Given the description of an element on the screen output the (x, y) to click on. 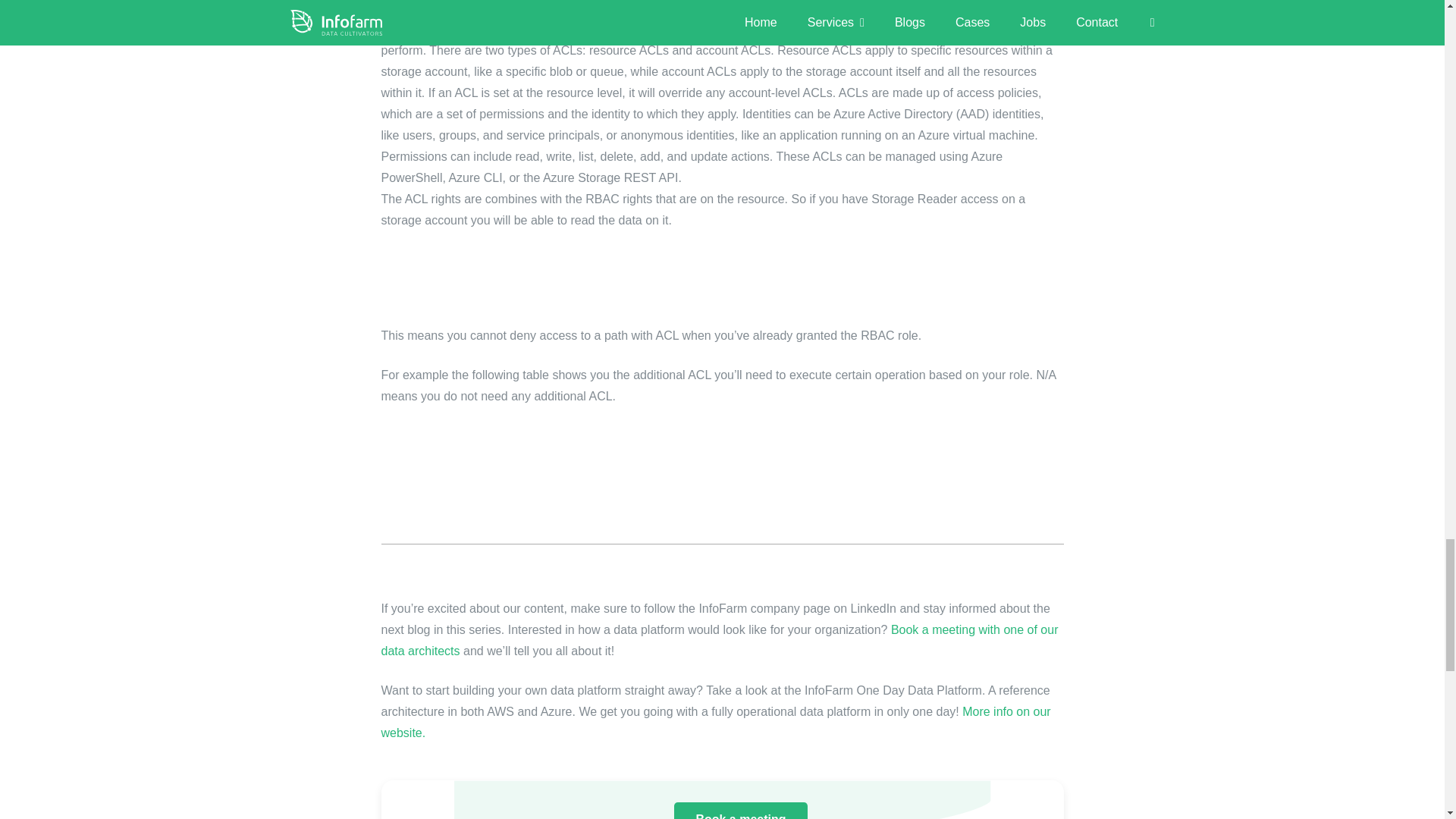
Book a meeting (741, 810)
Book a meeting with one of our data architects (719, 640)
More info on our website. (714, 722)
Book a meeting (741, 810)
